Given the description of an element on the screen output the (x, y) to click on. 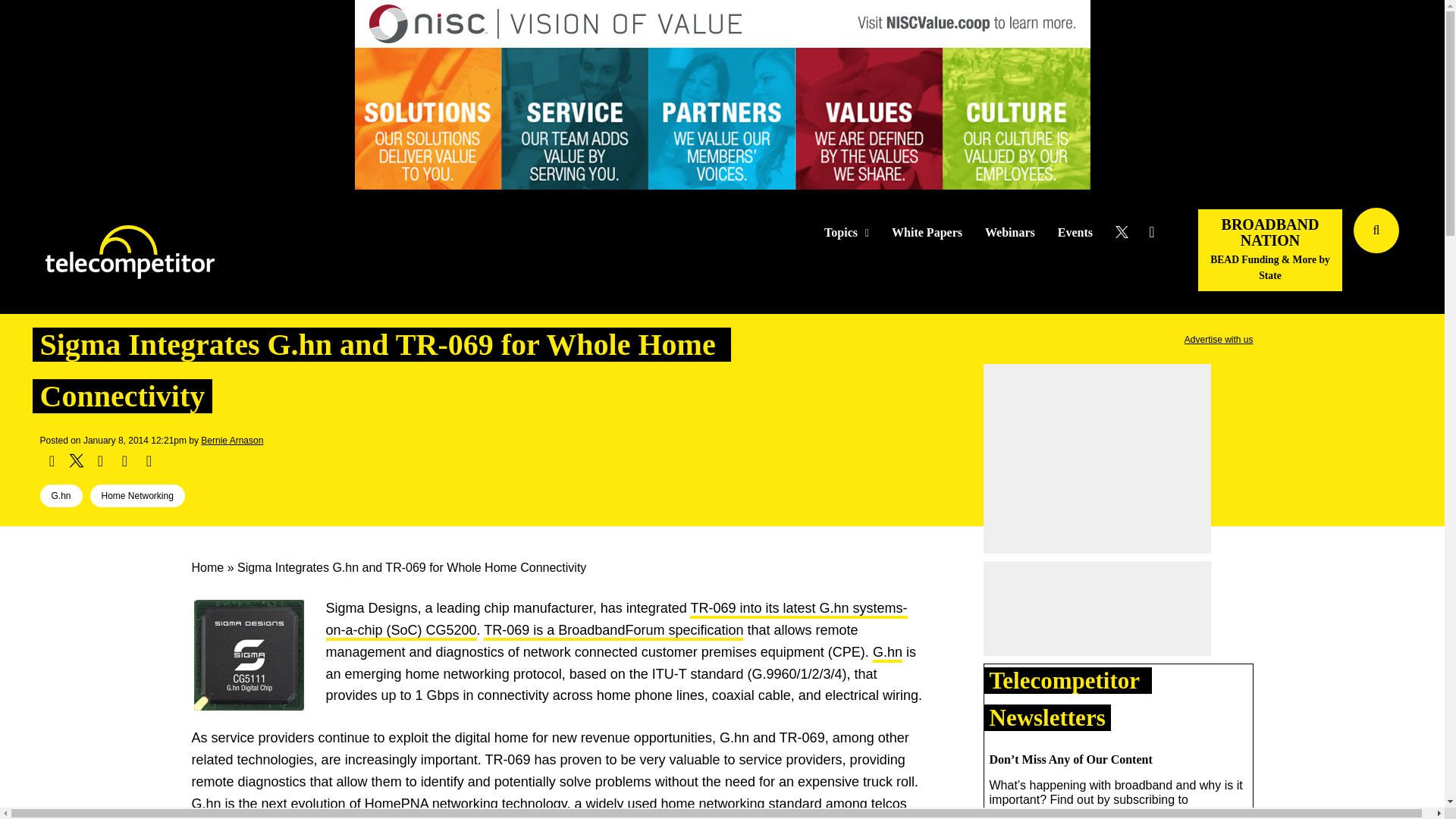
Webinars (1010, 232)
Search telecompetitor.com (1376, 230)
Search (1430, 253)
Topics (846, 232)
TR-069 is a BroadbandForum specification (612, 631)
Follow Us on Twitter (1127, 232)
Share on Facebook (51, 460)
Spread the word on Twitter (75, 460)
Follow Us on LinkedIN (1151, 232)
